Given the description of an element on the screen output the (x, y) to click on. 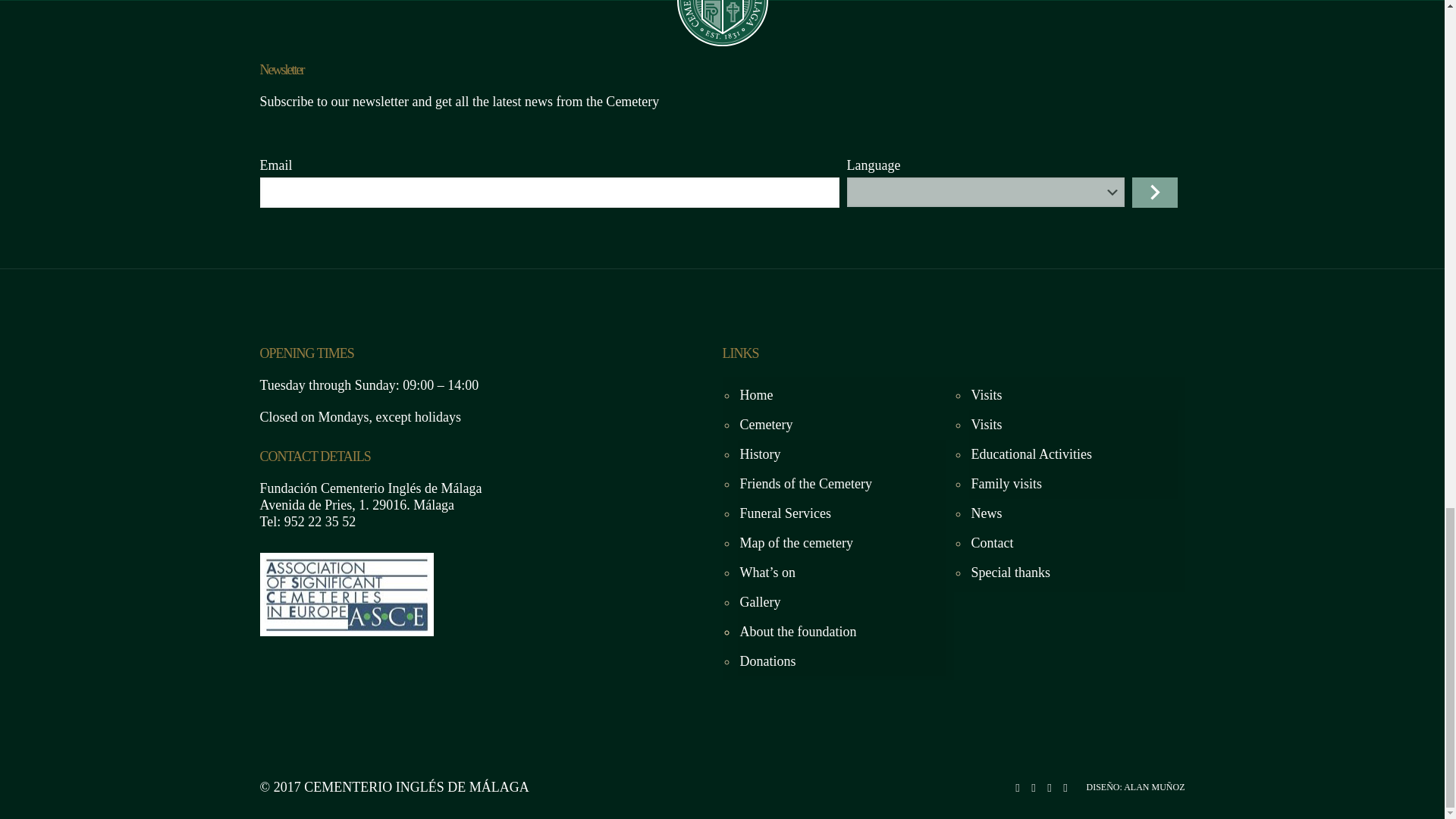
Friends of the Cemetery (840, 483)
Gallery (840, 602)
Instagram (1048, 787)
Home (840, 395)
Subscribe (1153, 192)
Facebook (1017, 787)
History (840, 454)
Map of the cemetery (840, 542)
Cemetery (840, 424)
Funeral Services (840, 513)
About the foundation (840, 632)
Subscribe (1153, 192)
